Given the description of an element on the screen output the (x, y) to click on. 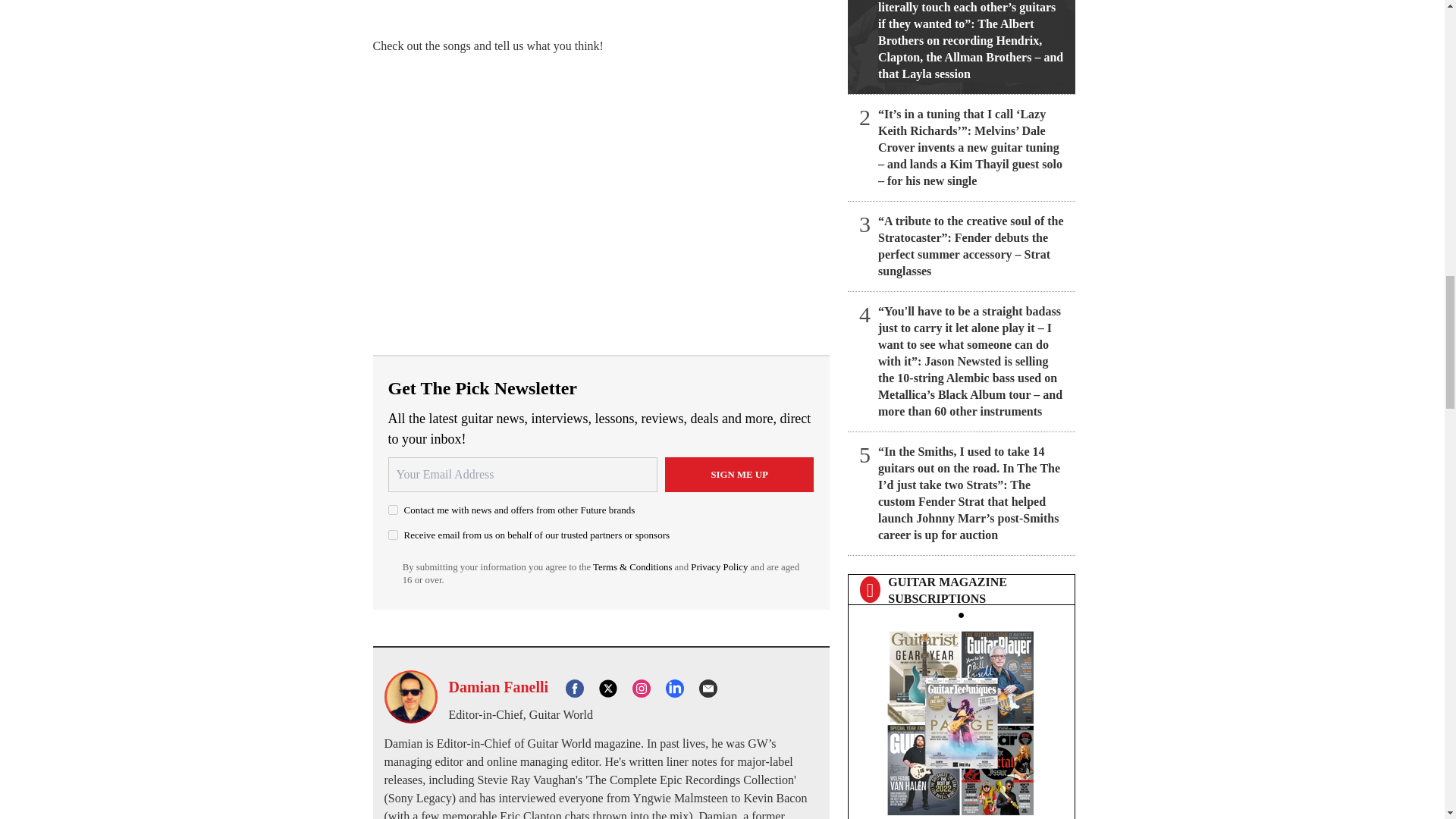
Guitar Magazine Subscriptions (960, 719)
on (392, 510)
Sign me up (739, 474)
on (392, 534)
